Given the description of an element on the screen output the (x, y) to click on. 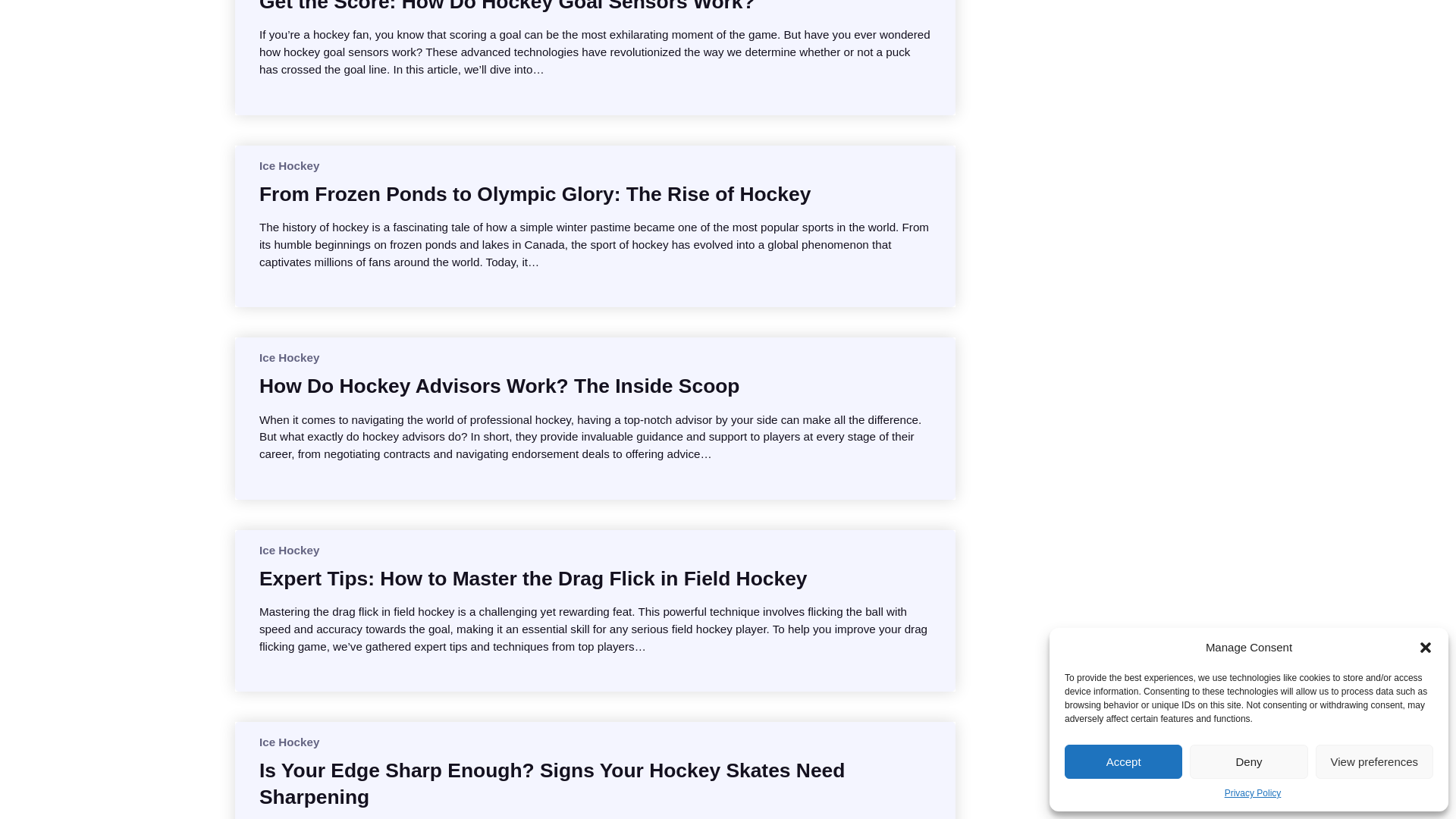
Ice Hockey (288, 164)
Ice Hockey (288, 357)
Get the Score: How Do Hockey Goal Sensors Work? (507, 7)
Ice Hockey (288, 549)
How Do Hockey Advisors Work? The Inside Scoop (499, 385)
Expert Tips: How to Master the Drag Flick in Field Hockey (532, 578)
From Frozen Ponds to Olympic Glory: The Rise of Hockey (534, 193)
Ice Hockey (288, 741)
